Given the description of an element on the screen output the (x, y) to click on. 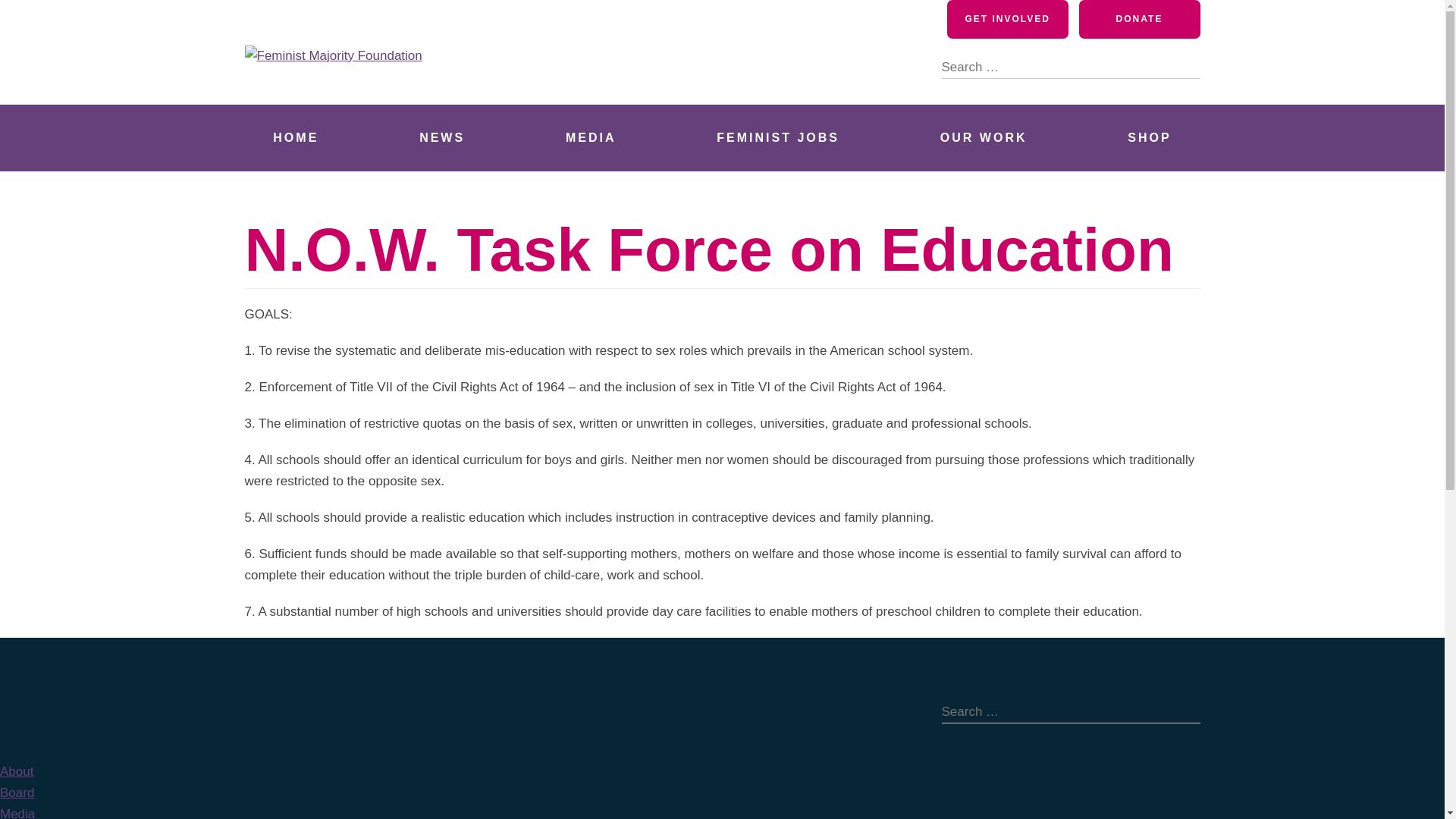
Search (1187, 66)
MEDIA (591, 137)
NEWS (441, 137)
Feminist Majority Foundation (445, 86)
FEMINIST JOBS (777, 137)
About (16, 771)
OUR WORK (983, 137)
GET INVOLVED (1007, 19)
Search (1187, 66)
Search (1187, 66)
